Given the description of an element on the screen output the (x, y) to click on. 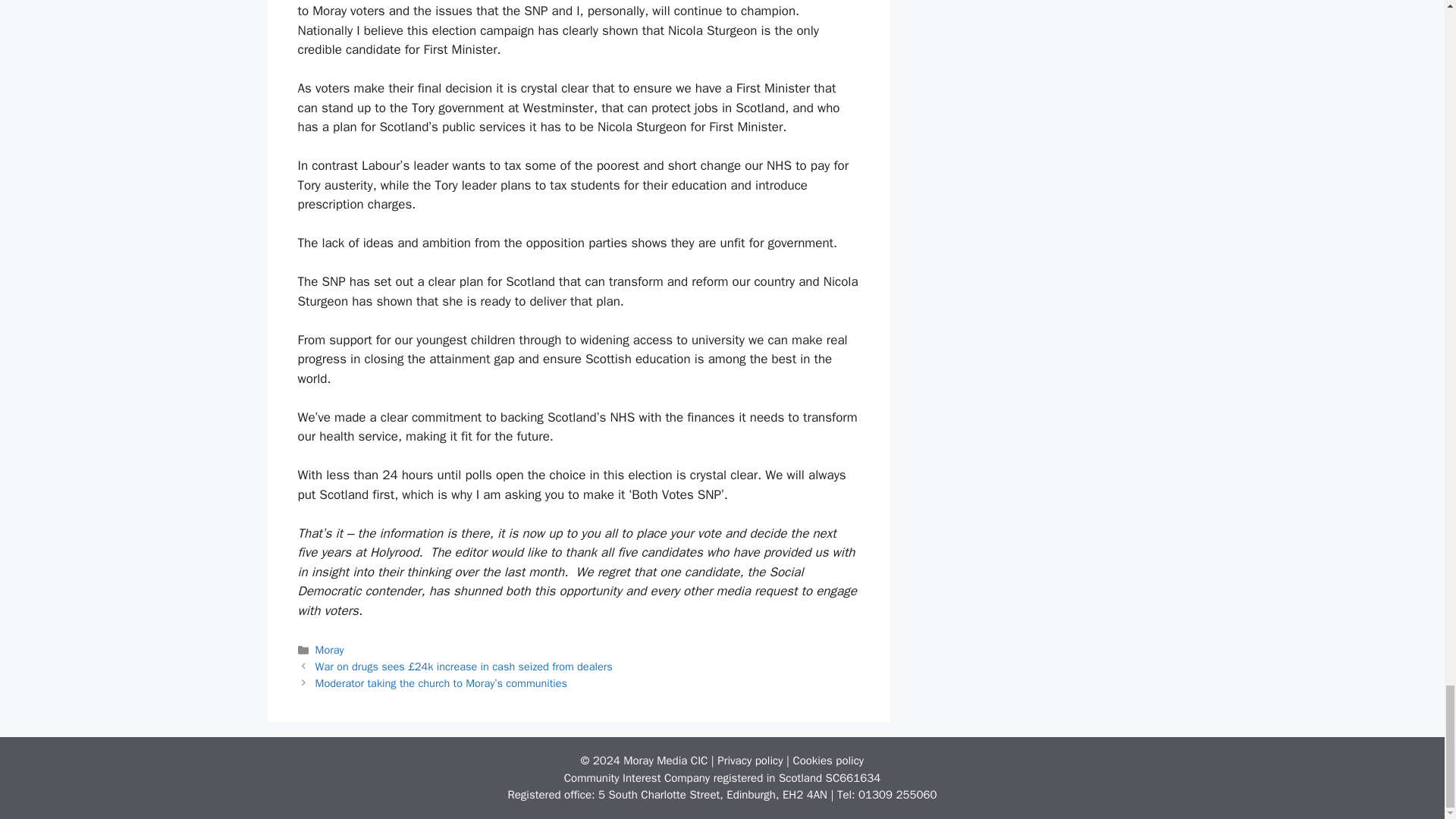
Moray (329, 649)
Privacy policy (750, 760)
Cookies policy (827, 760)
